Given the description of an element on the screen output the (x, y) to click on. 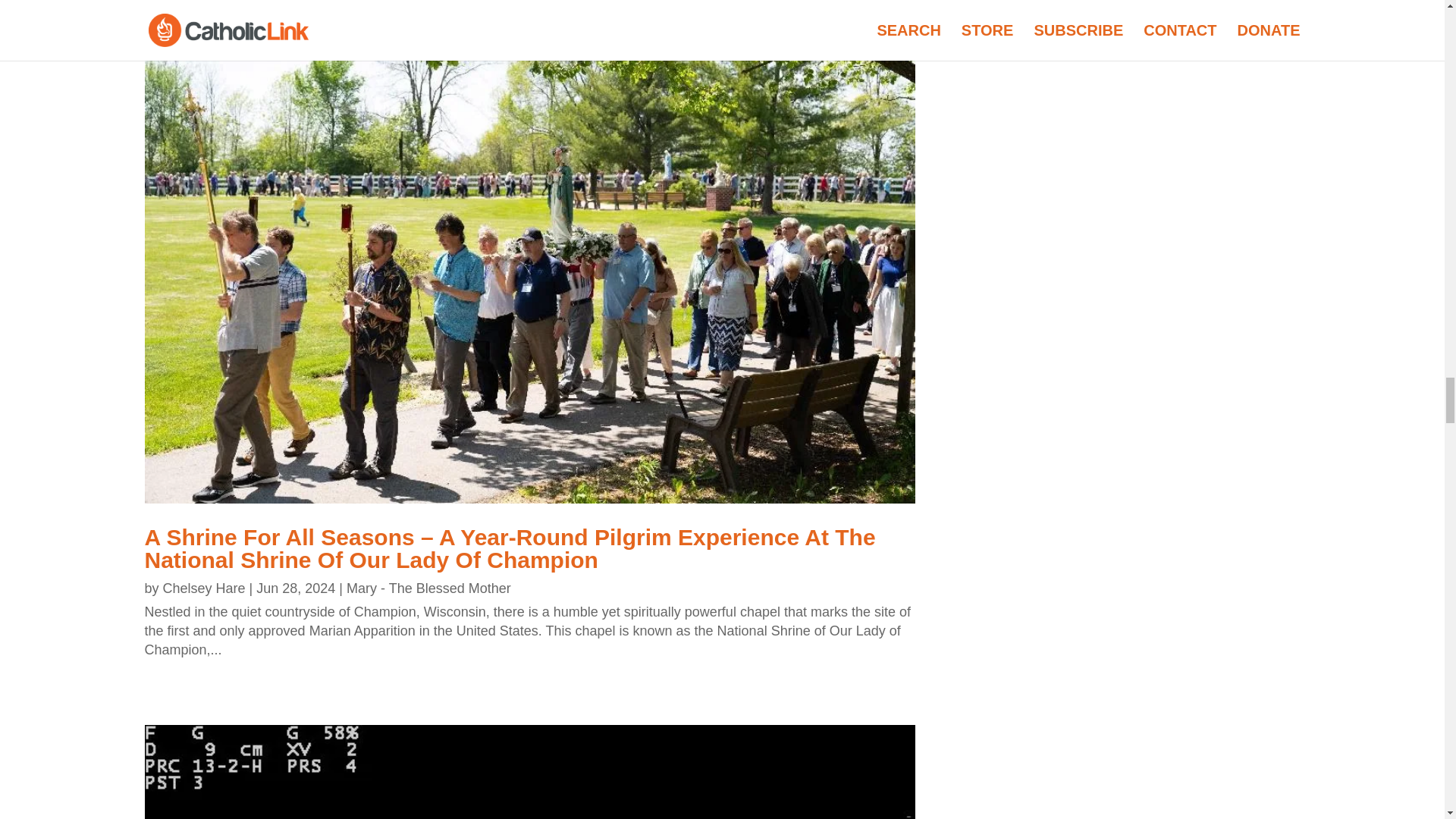
Posts by Chelsey Hare (204, 588)
